Given the description of an element on the screen output the (x, y) to click on. 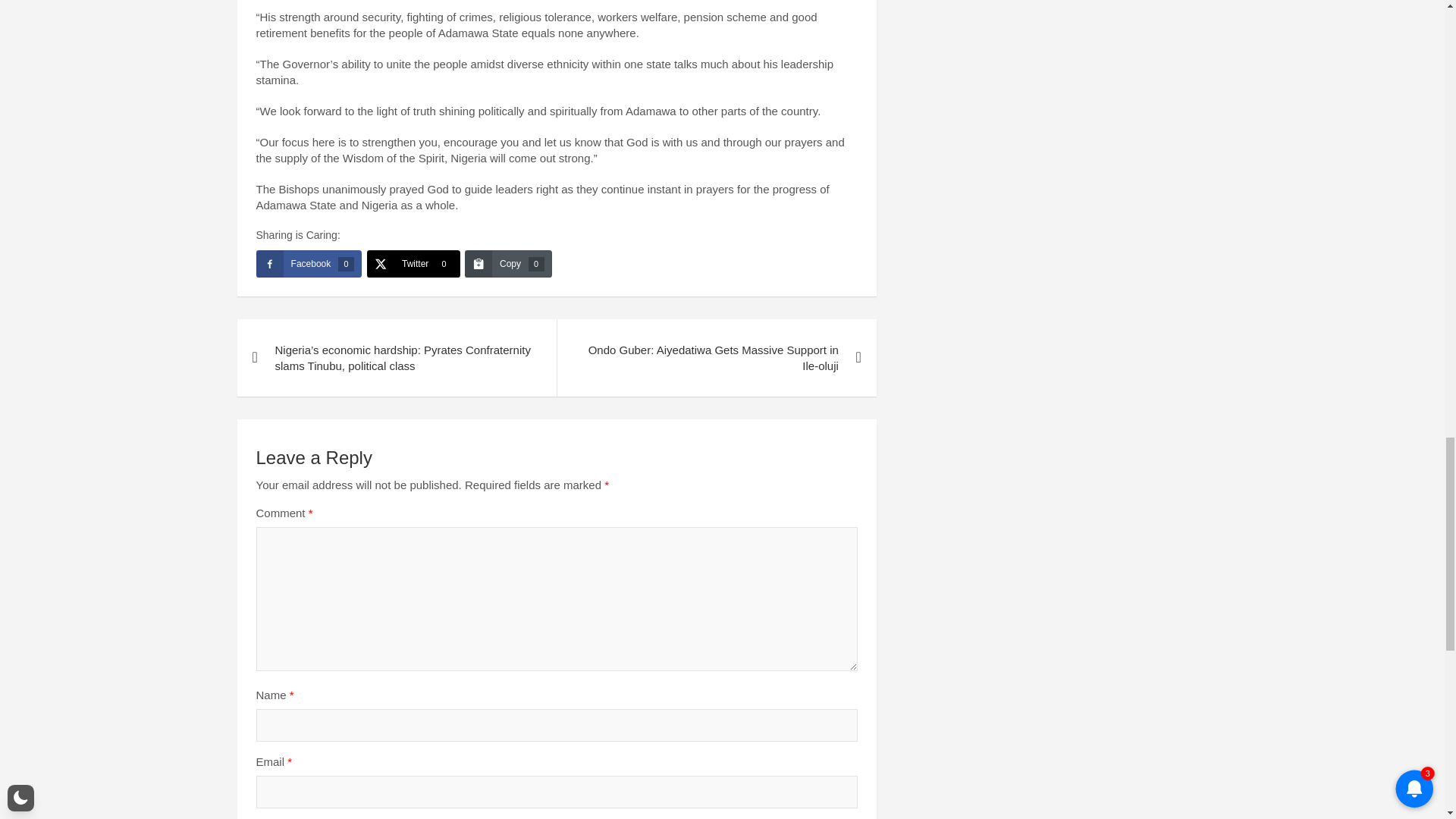
Ondo Guber: Aiyedatiwa Gets Massive Support in Ile-oluji (716, 357)
